Given the description of an element on the screen output the (x, y) to click on. 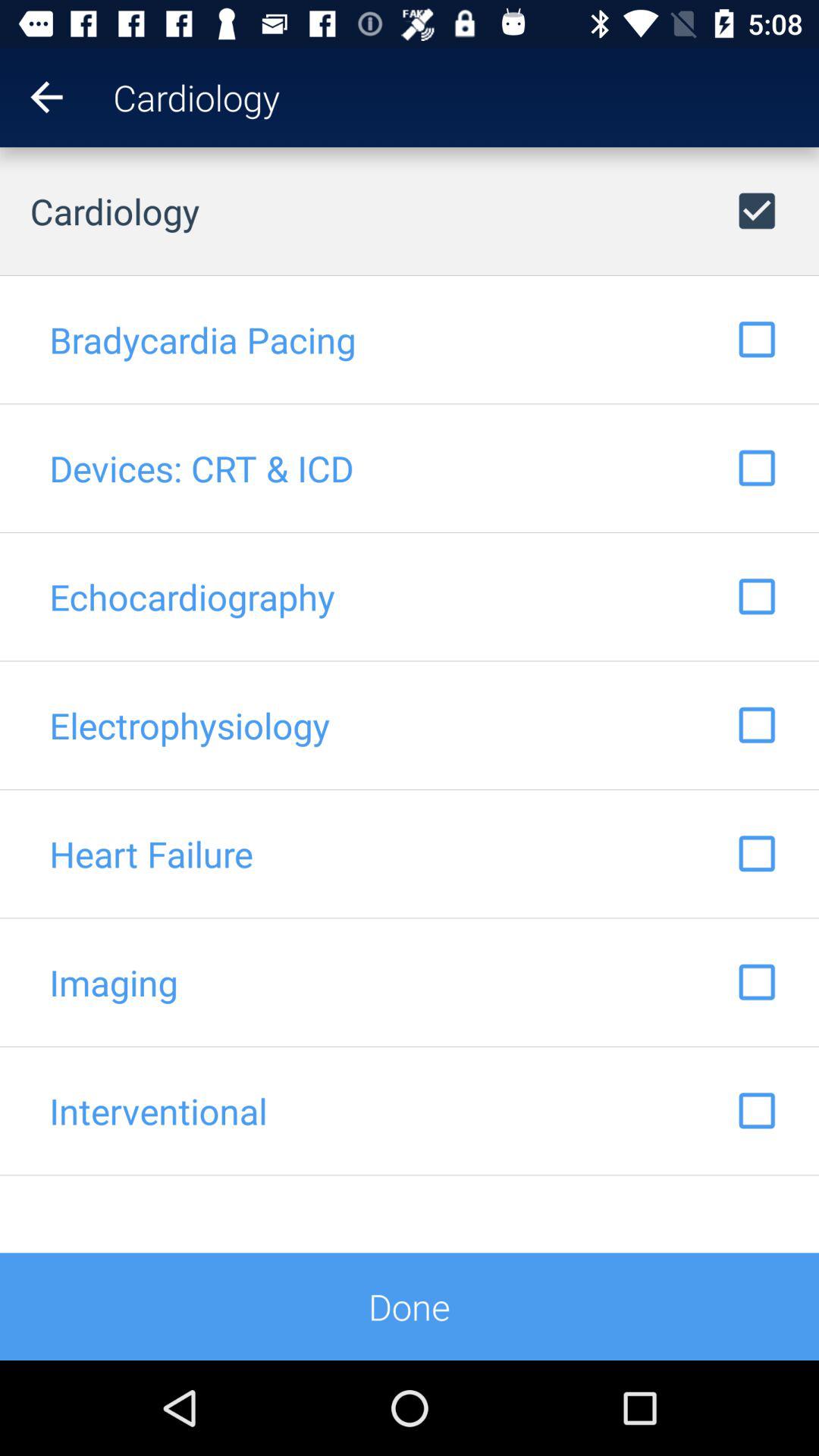
turn on icon next to the cardiology app (31, 97)
